Given the description of an element on the screen output the (x, y) to click on. 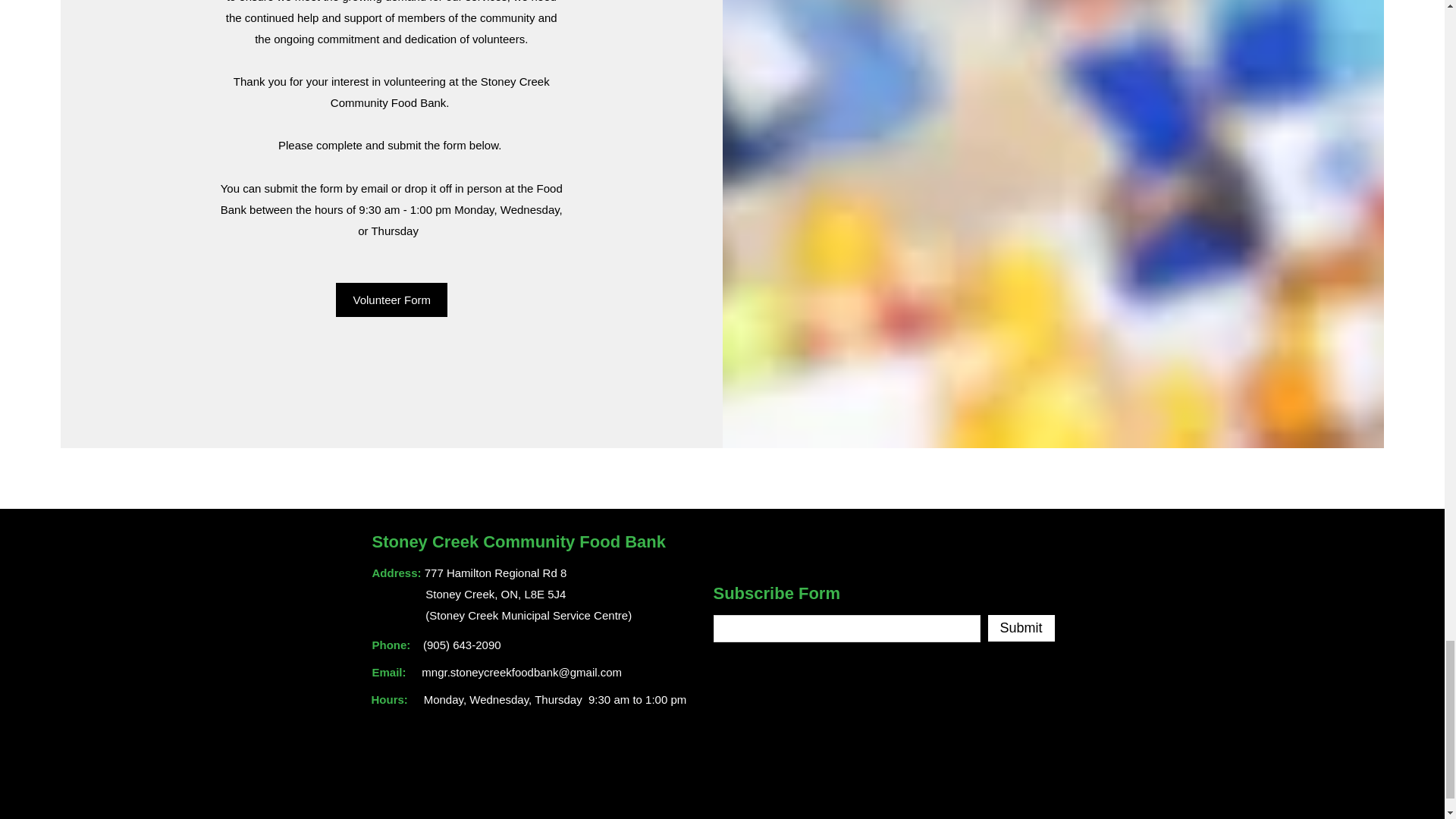
Stoney Creek Community Food Bank (518, 541)
Submit (1020, 628)
Volunteer Form (391, 299)
